Given the description of an element on the screen output the (x, y) to click on. 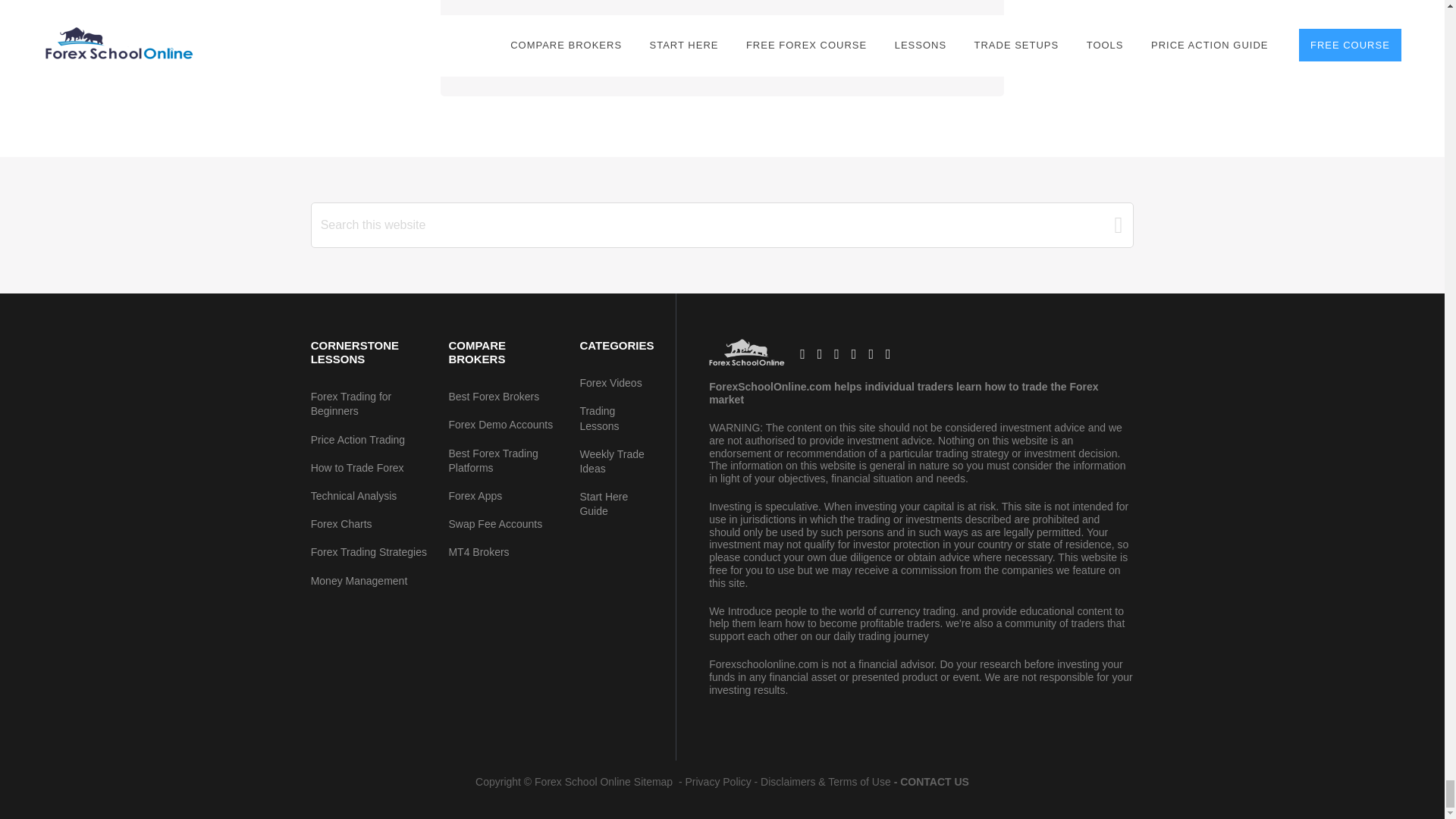
Post Comment (530, 36)
